Given the description of an element on the screen output the (x, y) to click on. 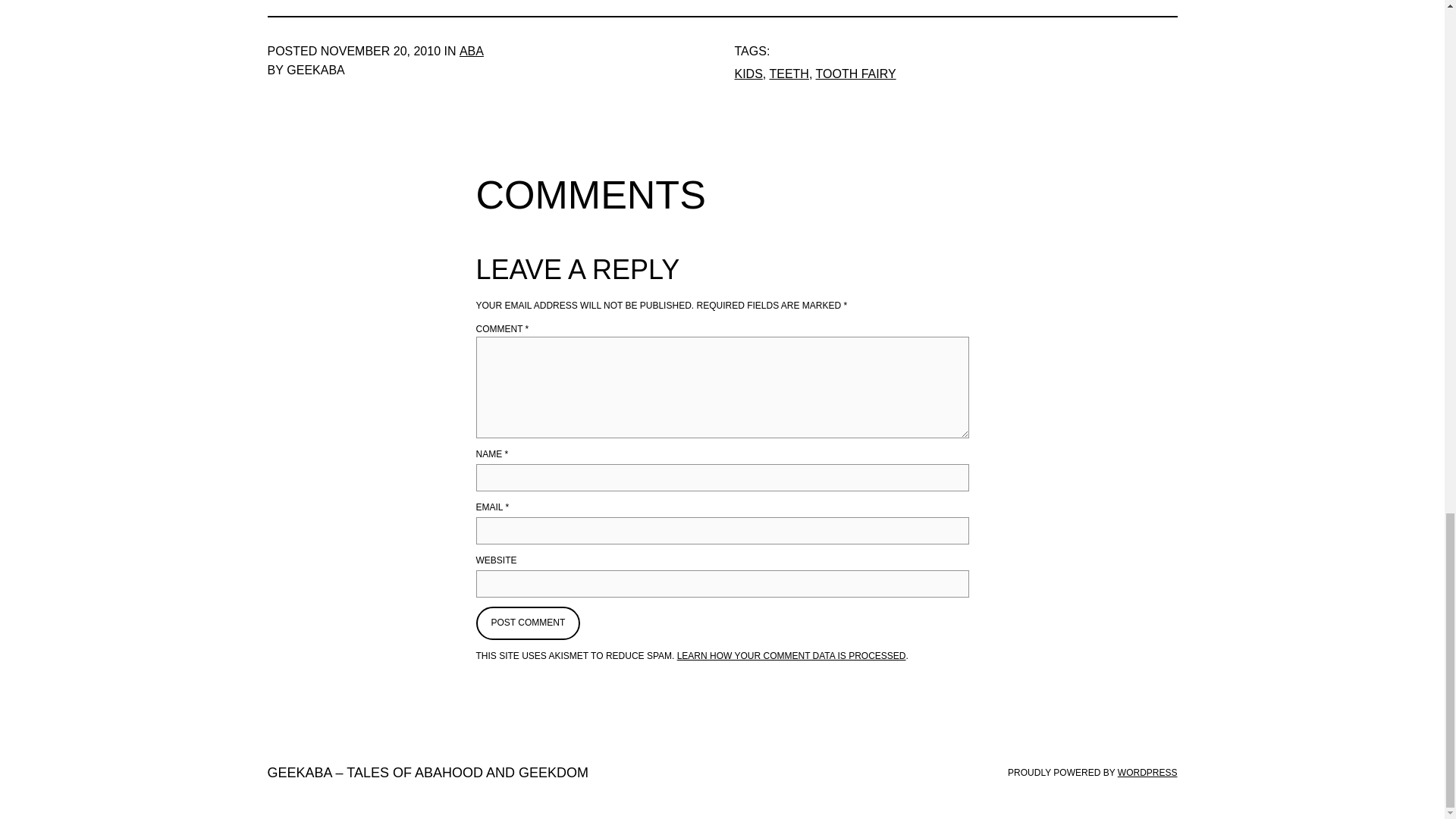
TEETH (788, 73)
KIDS (747, 73)
WORDPRESS (1147, 772)
Post Comment (528, 622)
TOOTH FAIRY (855, 73)
LEARN HOW YOUR COMMENT DATA IS PROCESSED (791, 655)
ABA (471, 51)
Post Comment (528, 622)
